Given the description of an element on the screen output the (x, y) to click on. 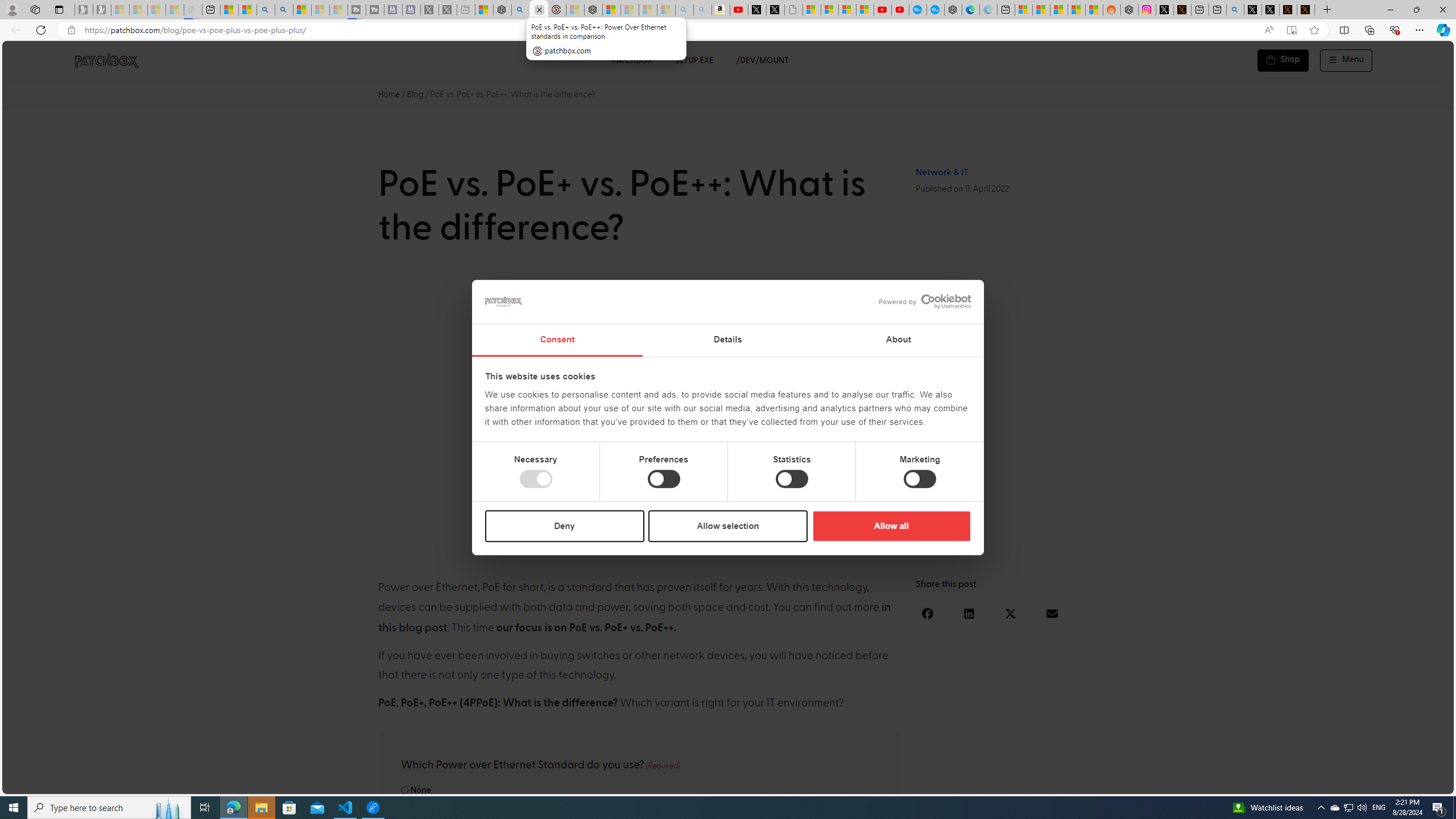
Allow all (890, 525)
Consent (556, 340)
Language switcher : Polish (1300, 782)
SETUP.EXE (694, 60)
Preferences (663, 479)
Language switcher : Greek (1380, 782)
Marketing (920, 479)
Blog (414, 94)
